Given the description of an element on the screen output the (x, y) to click on. 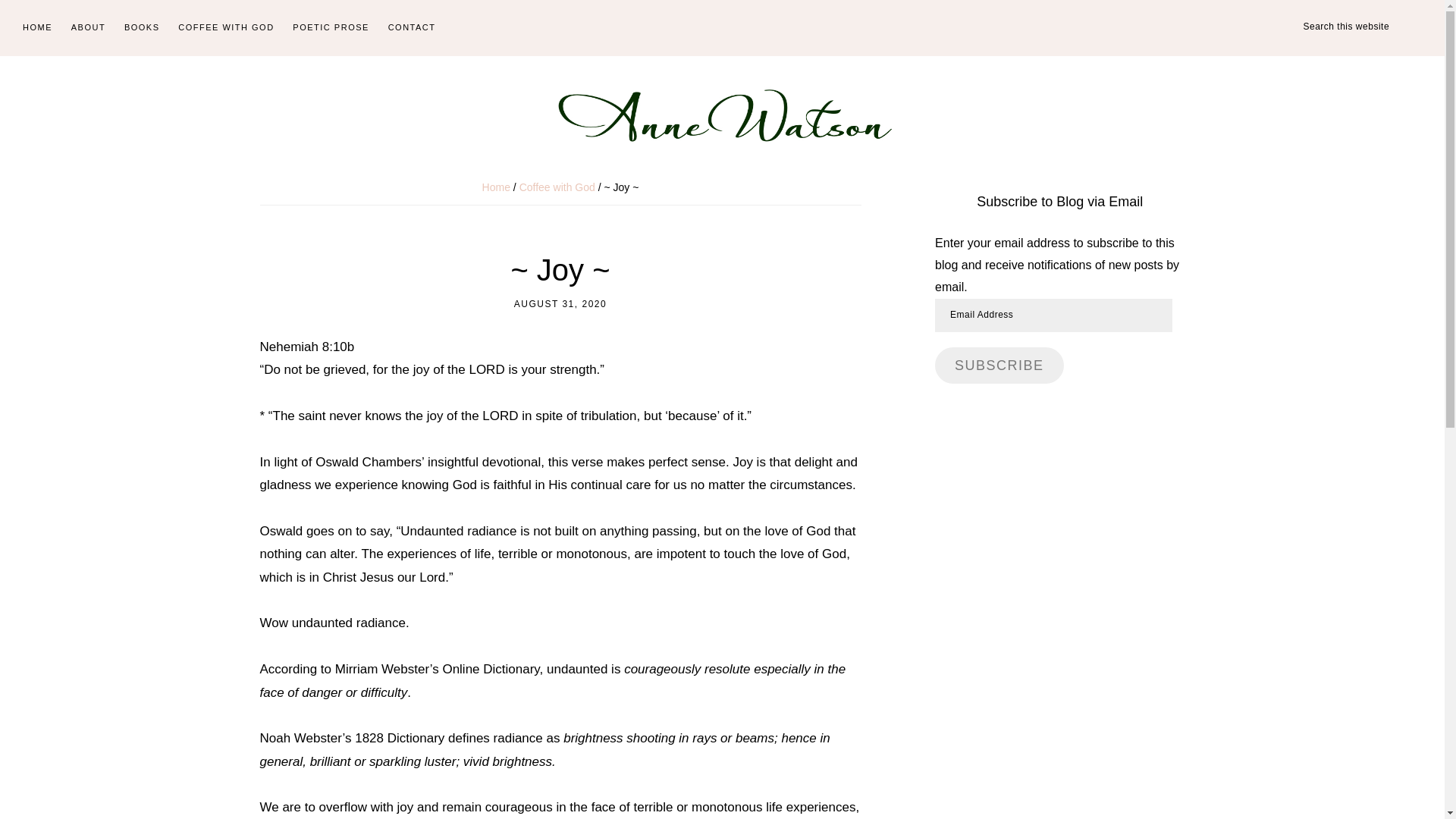
HOME (36, 27)
CONTACT (412, 27)
SUBSCRIBE (999, 365)
COFFEE WITH GOD (225, 27)
Home (496, 186)
ABOUT (88, 27)
POETIC PROSE (331, 27)
Coffee with God (557, 186)
